Given the description of an element on the screen output the (x, y) to click on. 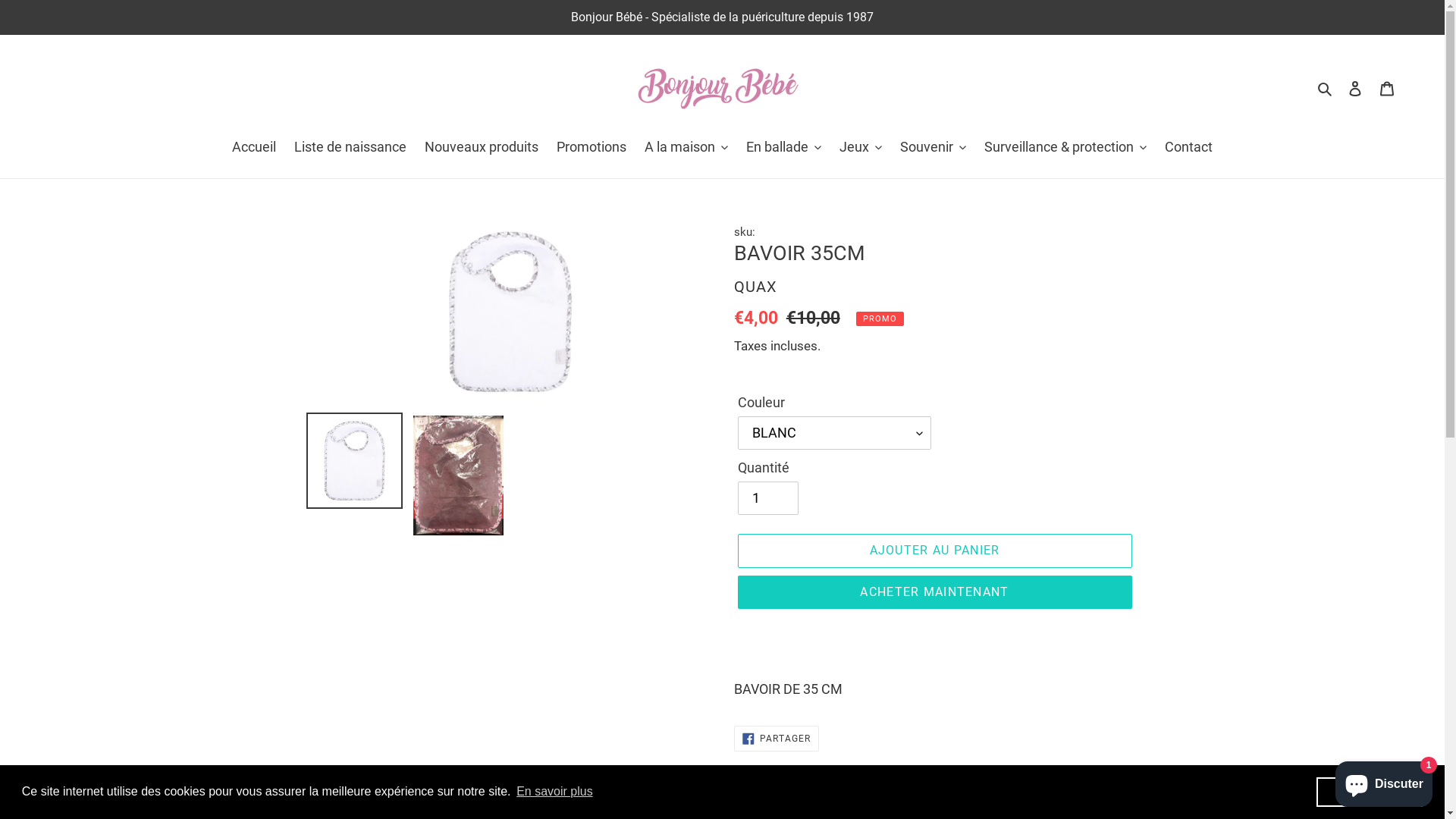
Panier Element type: text (1386, 87)
Rechercher Element type: text (1325, 87)
Accueil Element type: text (253, 147)
Promotions Element type: text (591, 147)
Souvenir Element type: text (932, 147)
En savoir plus Element type: text (554, 791)
Surveillance & protection Element type: text (1065, 147)
En ballade Element type: text (783, 147)
Contact Element type: text (1188, 147)
ACHETER MAINTENANT Element type: text (934, 591)
J'ai compris Element type: text (1369, 791)
Liste de naissance Element type: text (350, 147)
A la maison Element type: text (686, 147)
Jeux Element type: text (860, 147)
PARTAGER
PARTAGER SUR FACEBOOK Element type: text (776, 738)
Se connecter Element type: text (1355, 87)
Nouveaux produits Element type: text (481, 147)
Chat de la boutique en ligne Shopify Element type: hover (1383, 780)
AJOUTER AU PANIER Element type: text (934, 550)
